Given the description of an element on the screen output the (x, y) to click on. 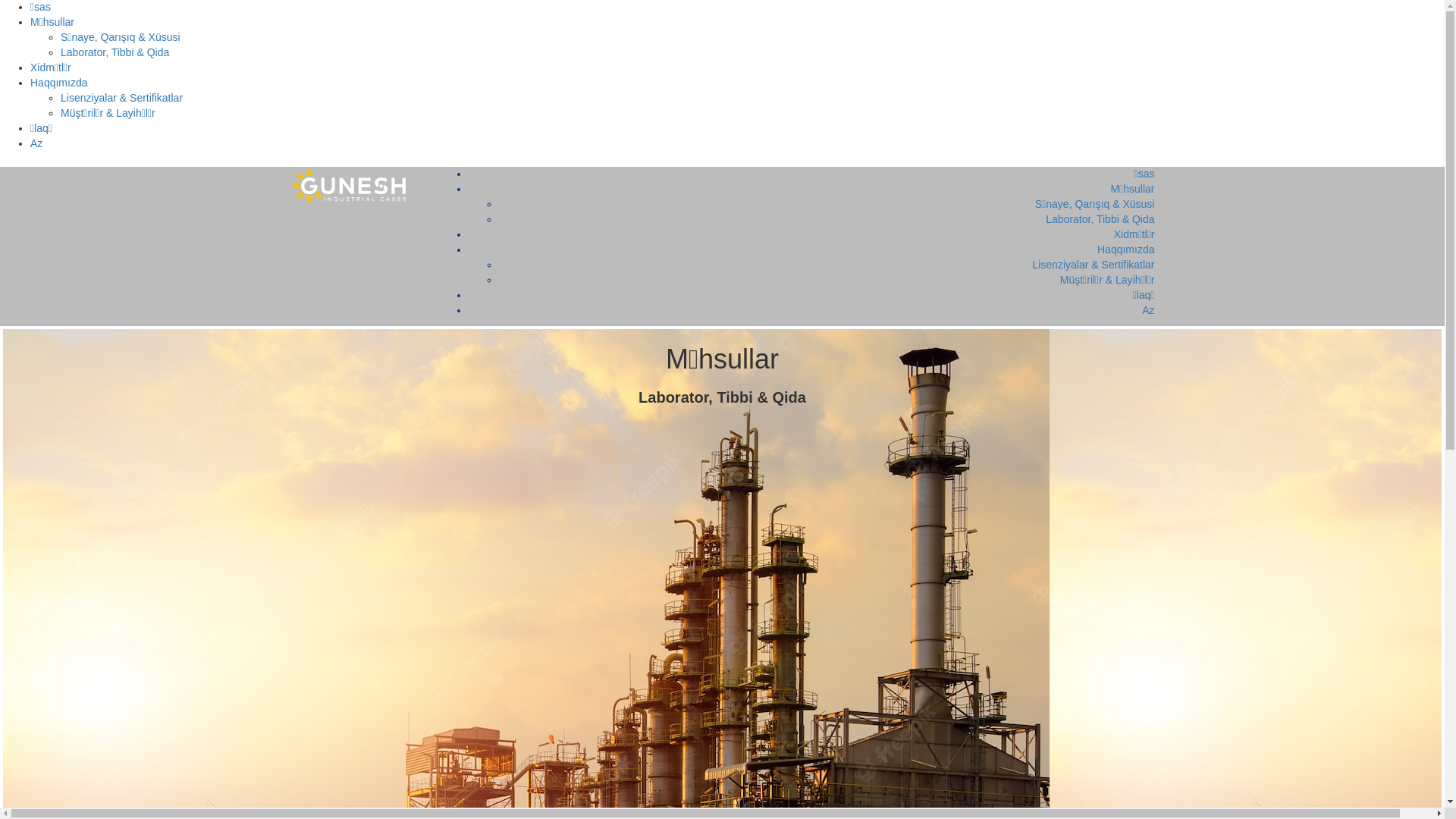
Lisenziyalar & Sertifikatlar Element type: text (1093, 264)
Laborator, Tibbi & Qida Element type: text (114, 52)
Laborator, Tibbi & Qida Element type: text (1099, 219)
Lisenziyalar & Sertifikatlar Element type: text (121, 97)
Az Element type: text (36, 143)
Az Element type: text (1148, 310)
